Given the description of an element on the screen output the (x, y) to click on. 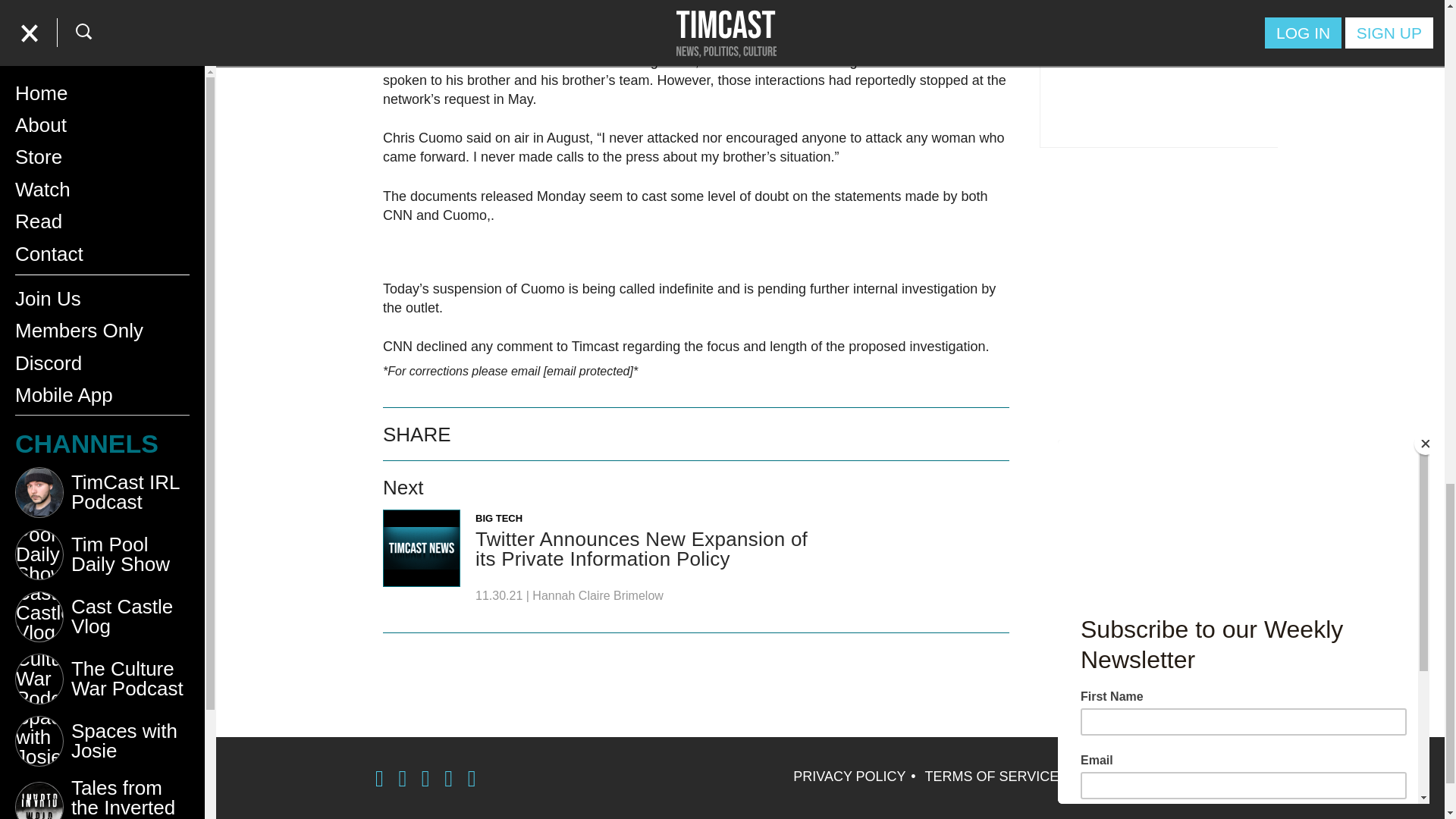
BIG TECH (499, 518)
